Given the description of an element on the screen output the (x, y) to click on. 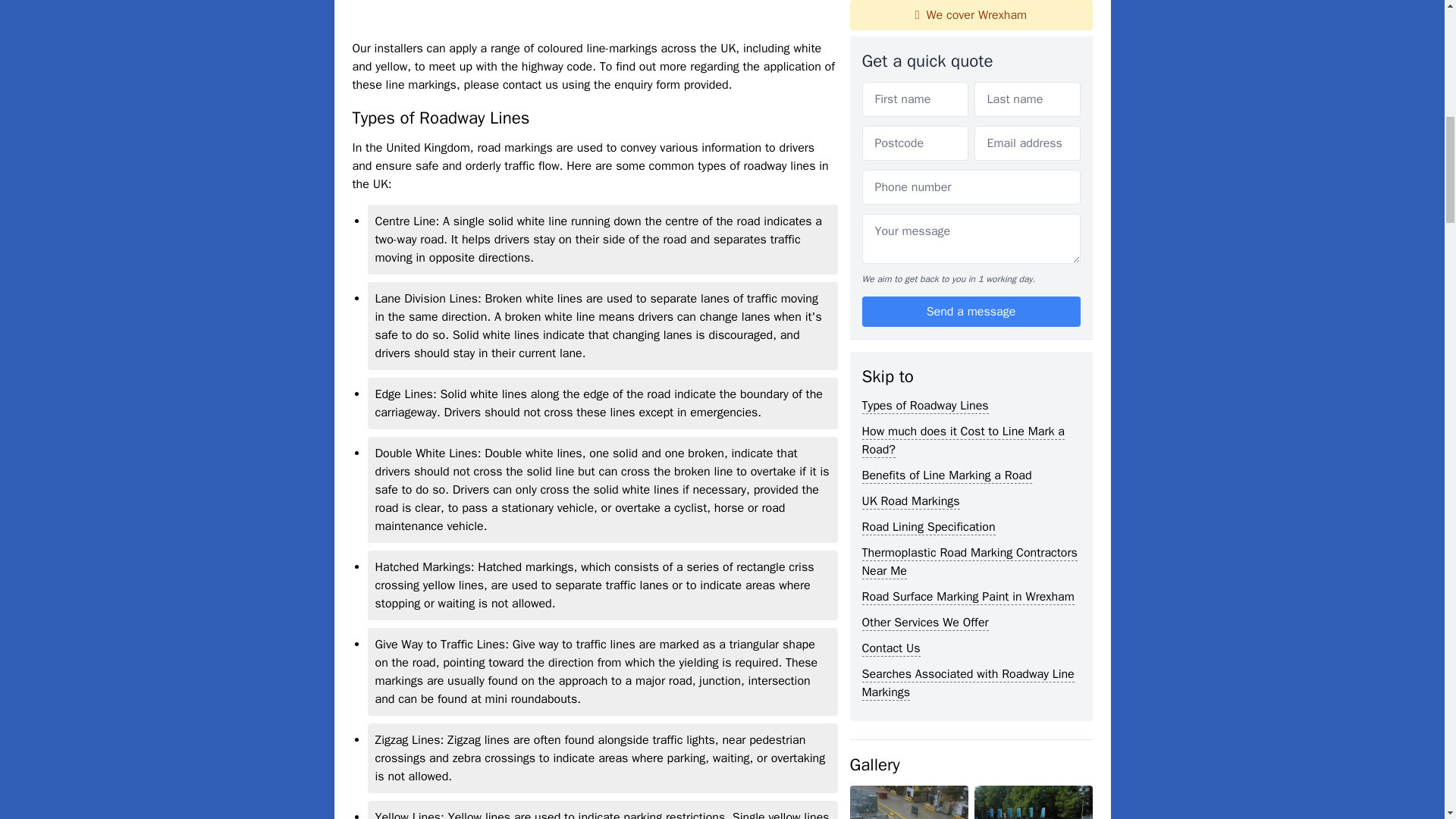
Road Surface Marking Paint in Wrexham (967, 197)
UK Road Markings (910, 101)
Road Lining Specification (927, 127)
How much does it Cost to Line Mark a Road? (962, 41)
Other Services We Offer (924, 222)
Benefits of Line Marking a Road (945, 75)
Types of Roadway Lines (924, 7)
Thermoplastic Road Marking Contractors Near Me (969, 162)
Searches Associated with Roadway Line Markings (967, 283)
Contact Us (890, 248)
